Given the description of an element on the screen output the (x, y) to click on. 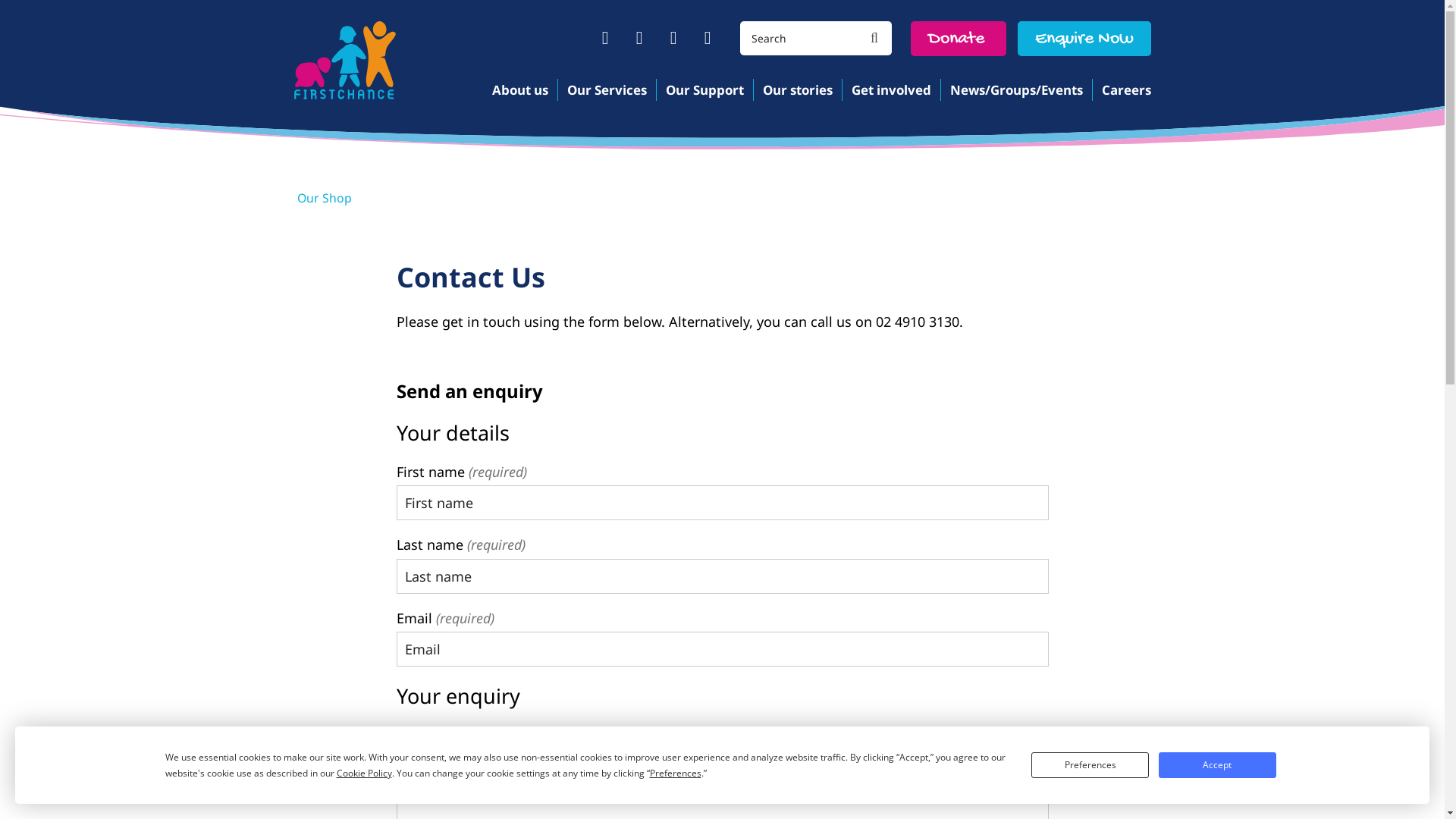
YouTube Element type: text (673, 38)
Twitter Element type: text (638, 38)
Instagram Element type: text (707, 38)
Accept Element type: text (1216, 765)
Facebook Element type: text (605, 38)
Careers Element type: text (1121, 89)
Our stories Element type: text (796, 89)
Get involved Element type: text (890, 89)
Enquire Now Element type: text (1084, 38)
Firstchance Element type: text (345, 60)
Search Element type: text (874, 38)
About us Element type: text (519, 89)
News/Groups/Events Element type: text (1016, 89)
Donate  Element type: text (957, 38)
Our Shop Element type: text (324, 197)
Our Services Element type: text (605, 89)
Preferences Element type: text (1089, 765)
Our Support Element type: text (703, 89)
Search Element type: hover (800, 38)
